Given the description of an element on the screen output the (x, y) to click on. 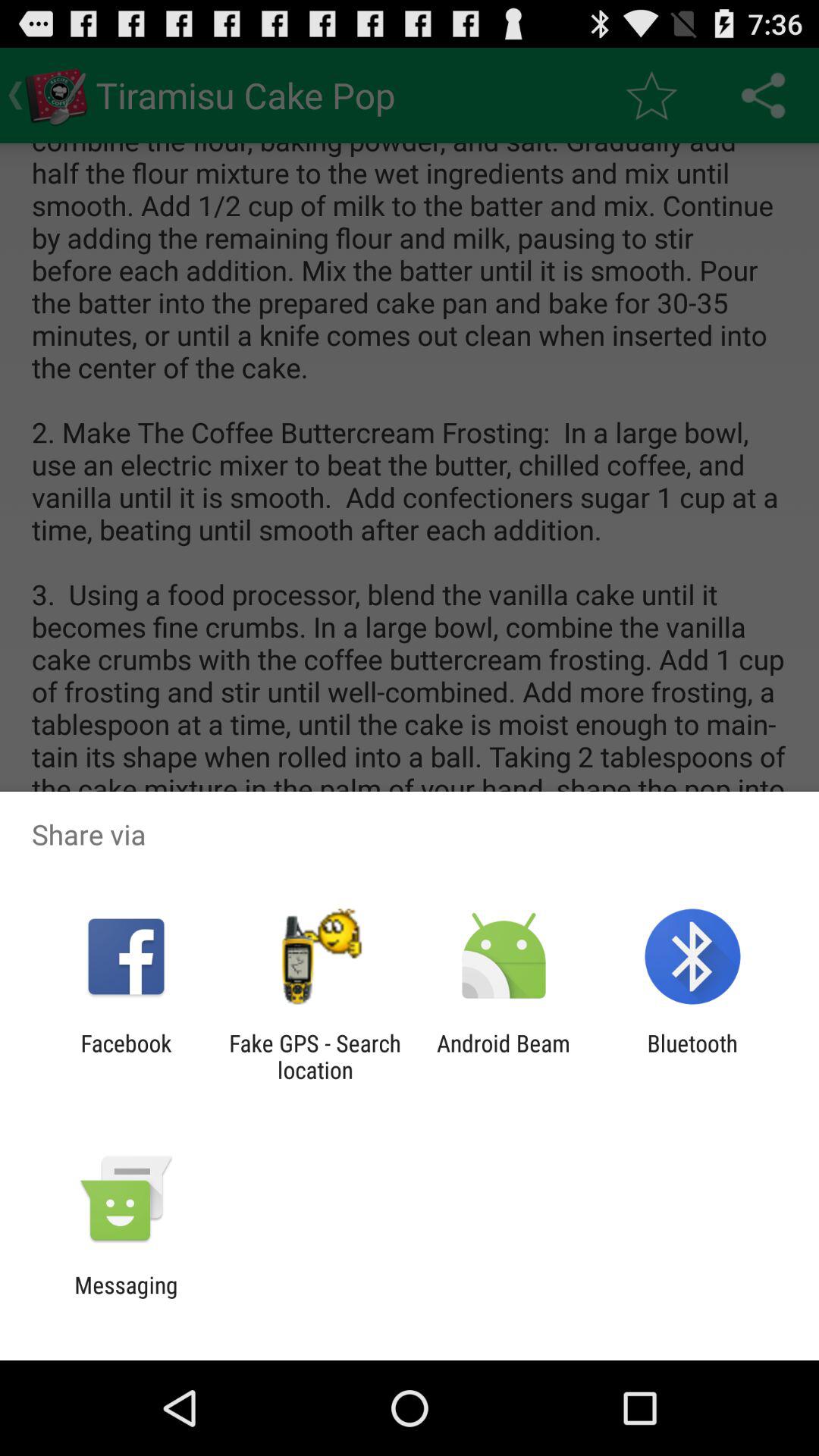
turn off app at the bottom right corner (692, 1056)
